Given the description of an element on the screen output the (x, y) to click on. 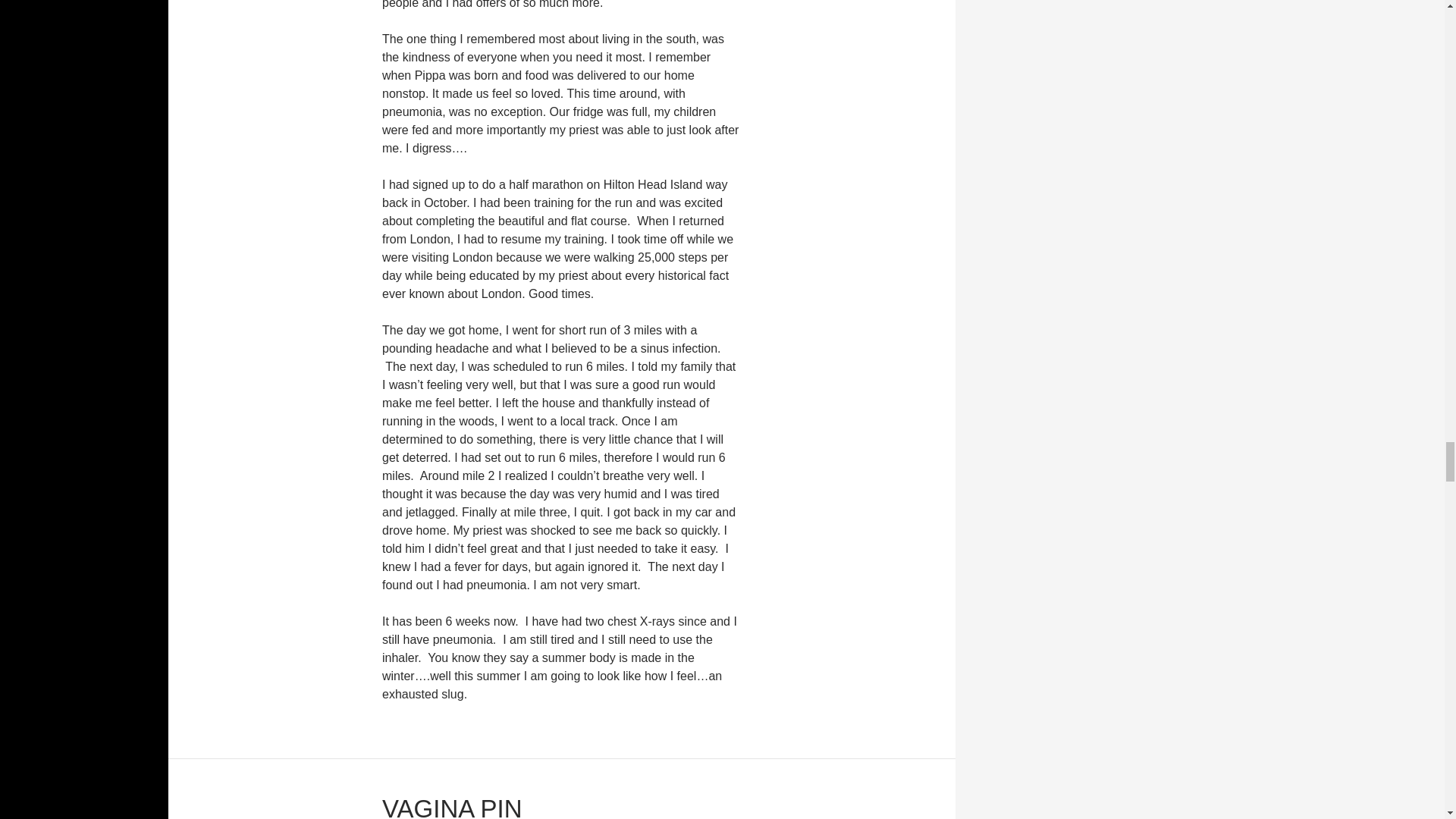
VAGINA PIN (451, 806)
